Given the description of an element on the screen output the (x, y) to click on. 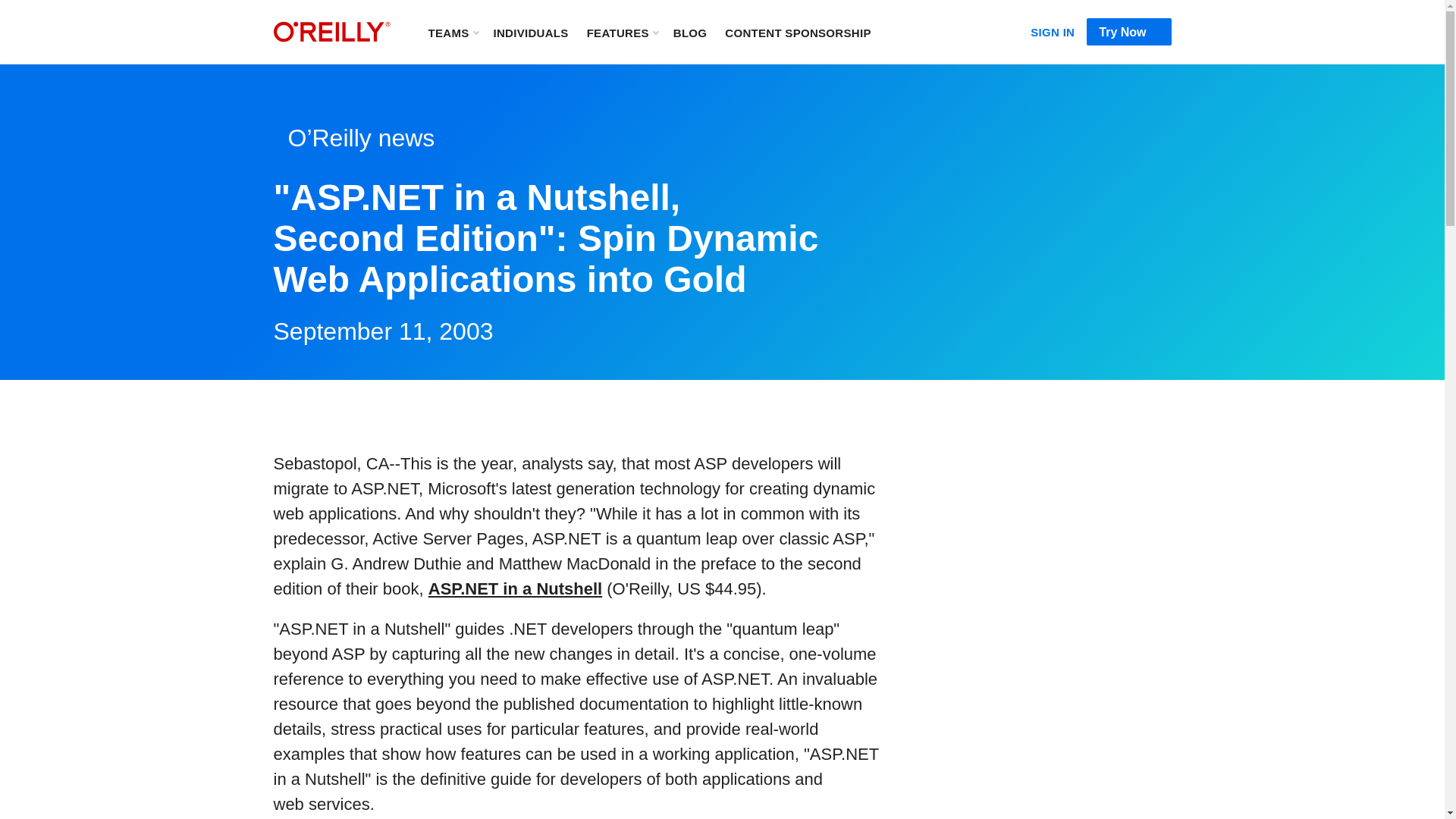
TEAMS (452, 31)
CONTENT SPONSORSHIP (797, 31)
home page (331, 31)
SIGN IN (1052, 29)
Search (903, 31)
INDIVIDUALS (530, 31)
FEATURES (622, 31)
Try Now (1128, 31)
ASP.NET in a Nutshell (515, 588)
BLOG (689, 31)
